Given the description of an element on the screen output the (x, y) to click on. 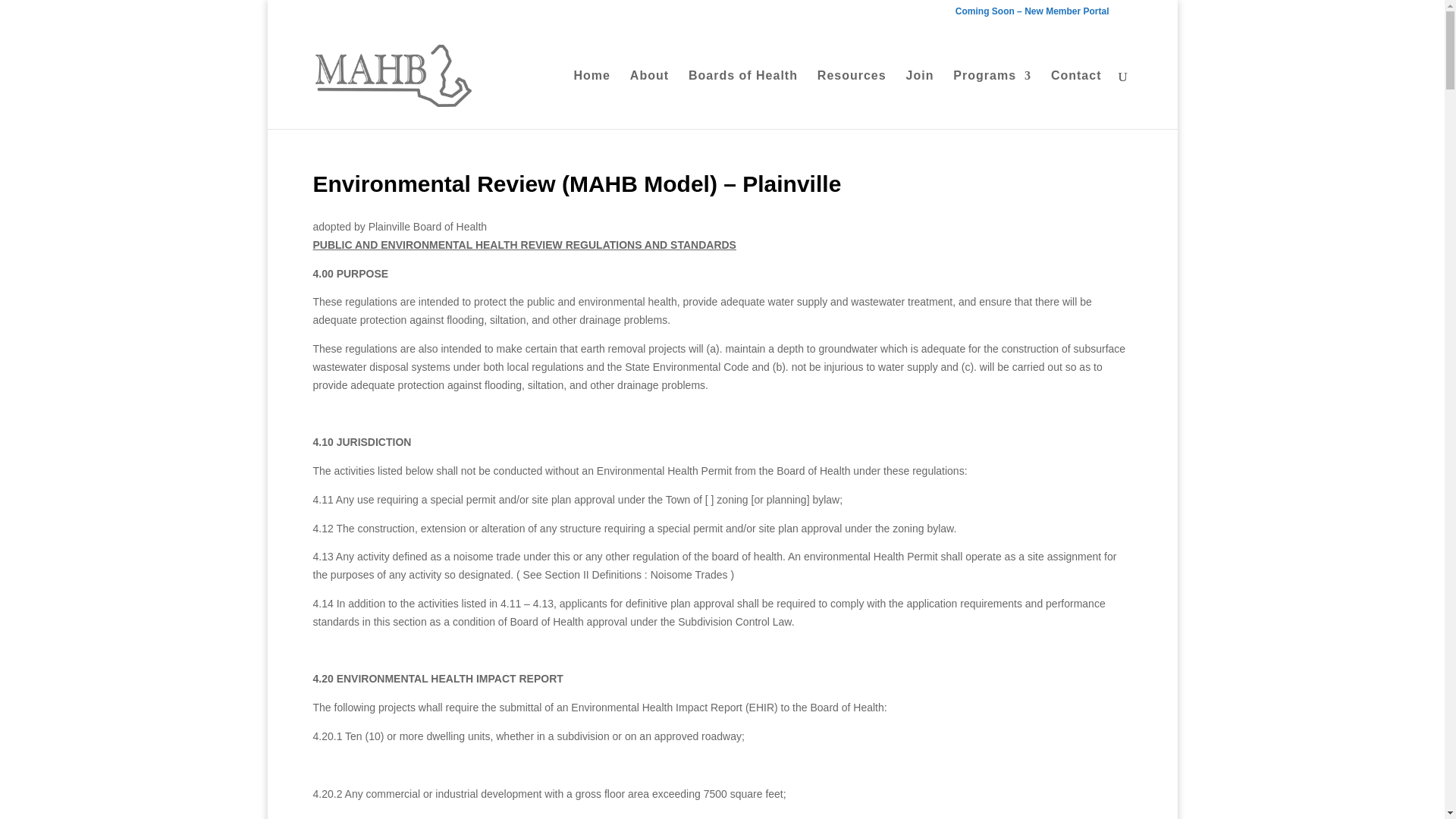
Boards of Health (742, 99)
Join (919, 99)
Programs (991, 99)
About (649, 99)
Resources (851, 99)
Home (591, 99)
Contact (1076, 99)
